Given the description of an element on the screen output the (x, y) to click on. 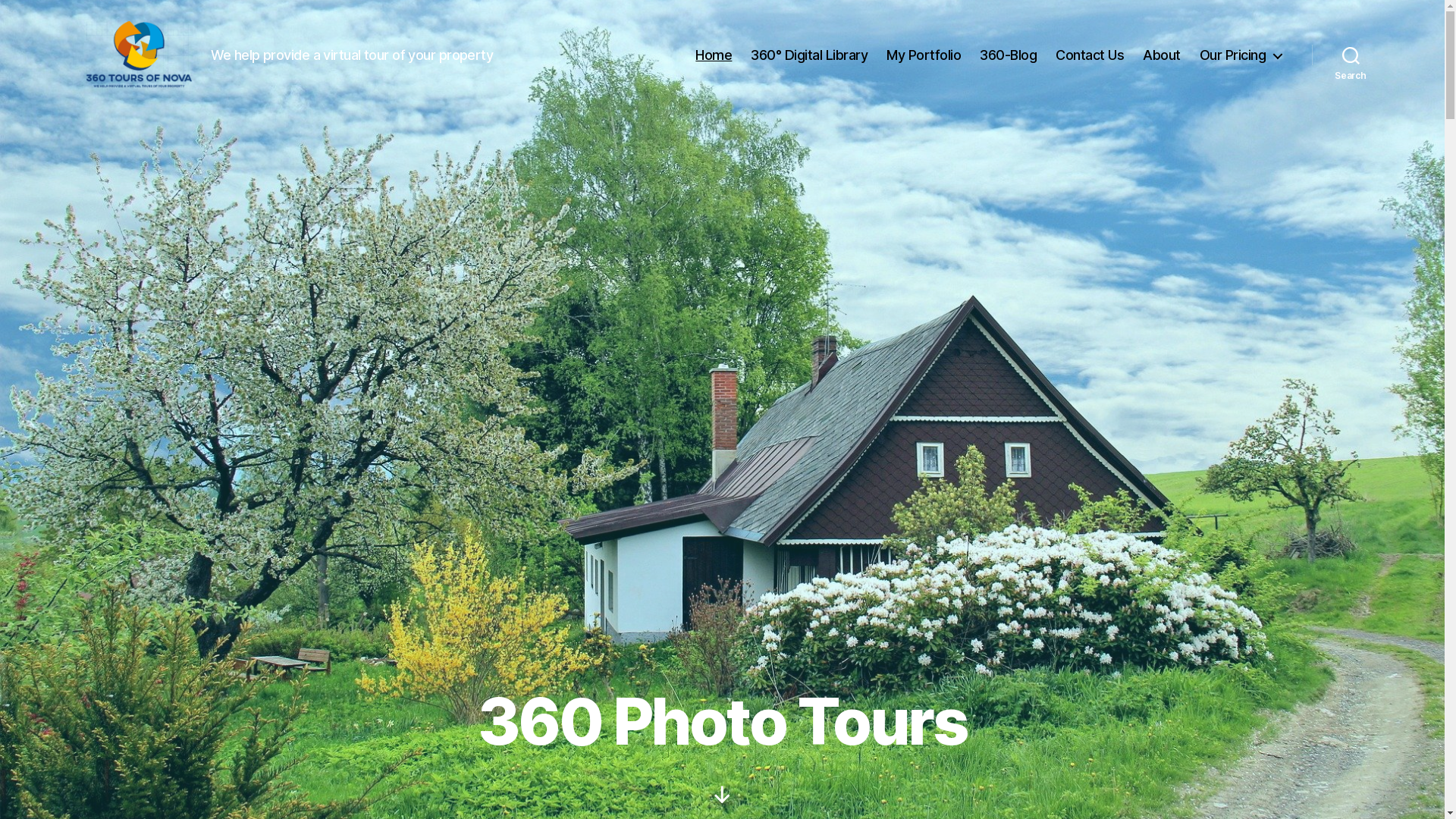
My Portfolio Element type: text (923, 55)
Scroll Down Element type: text (722, 794)
360-Blog Element type: text (1007, 55)
Home Element type: text (713, 55)
Our Pricing Element type: text (1240, 55)
Contact Us Element type: text (1089, 55)
About Element type: text (1161, 55)
Search Element type: text (1350, 55)
